Given the description of an element on the screen output the (x, y) to click on. 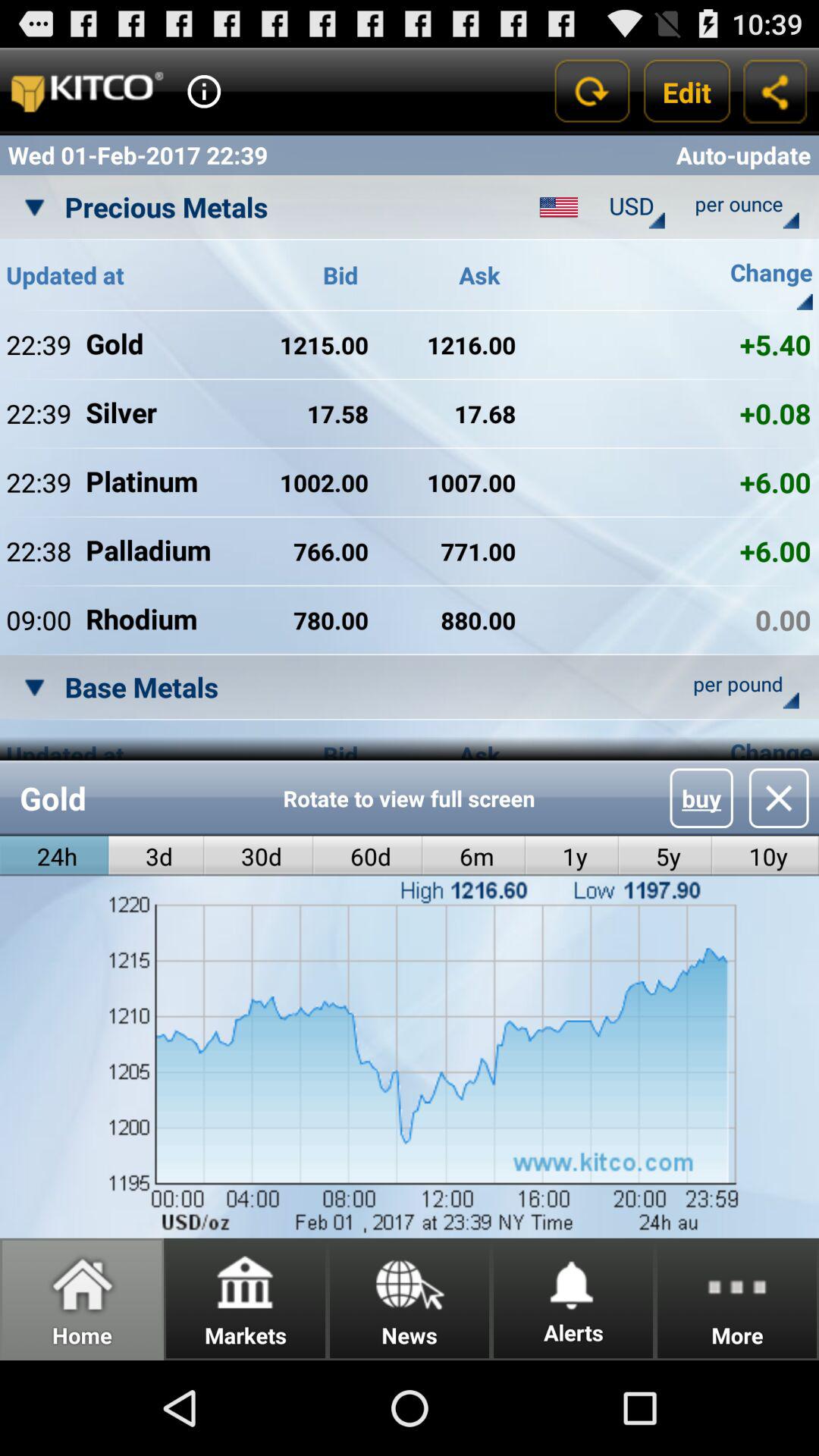
turn off app below rotate to view item (367, 856)
